Given the description of an element on the screen output the (x, y) to click on. 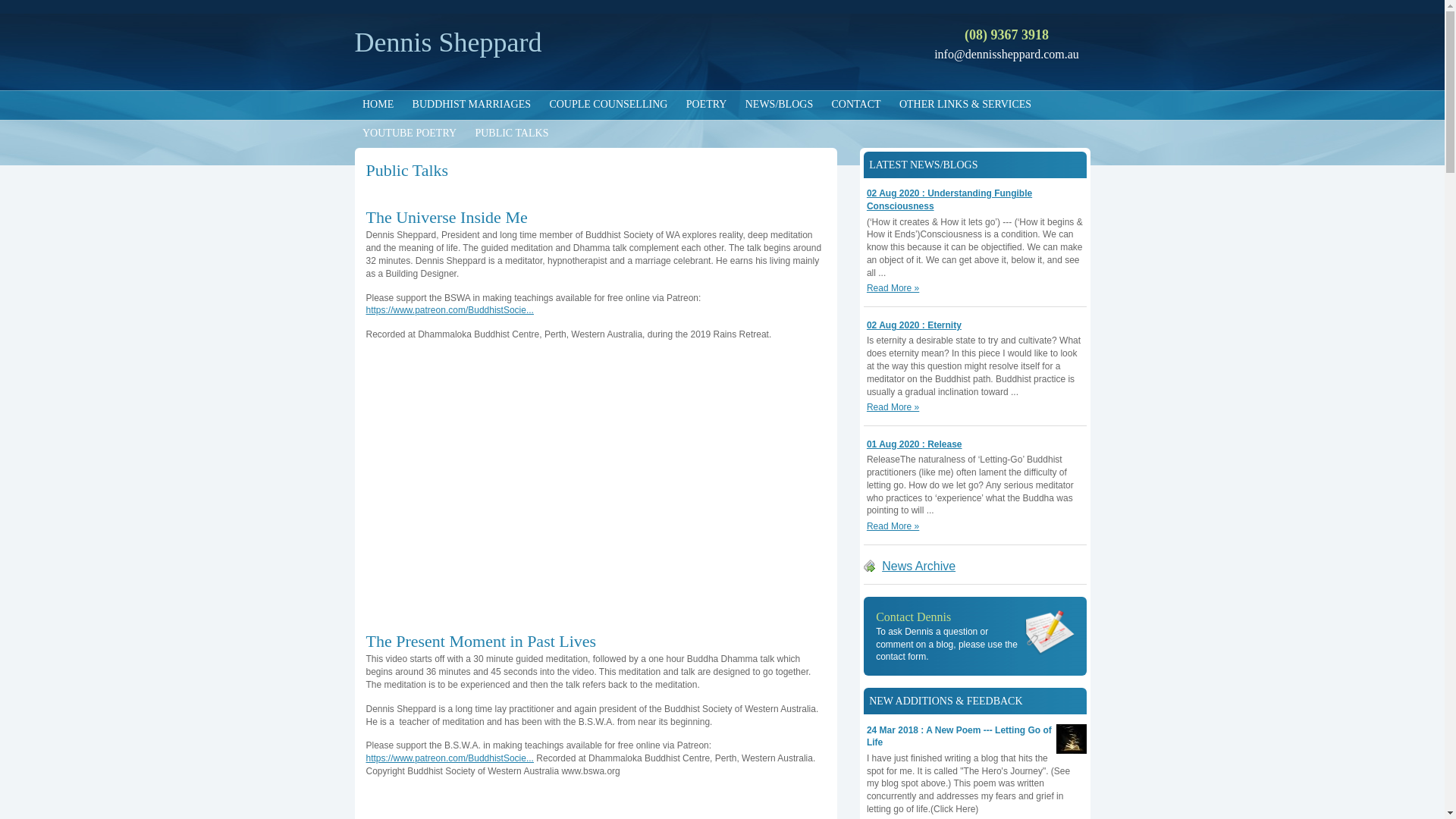
NEWS/BLOGS Element type: text (778, 104)
Contact Dennis Element type: text (912, 615)
https://www.patreon.com/BuddhistSocie... Element type: text (449, 758)
BUDDHIST MARRIAGES Element type: text (471, 104)
01 Aug 2020 : Release Element type: text (914, 444)
PUBLIC TALKS Element type: text (511, 133)
02 Aug 2020 : Understanding Fungible Consciousness Element type: text (949, 199)
info@dennissheppard.com.au Element type: text (1006, 53)
POETRY Element type: text (705, 104)
https://www.patreon.com/BuddhistSocie... Element type: text (449, 309)
OTHER LINKS & SERVICES Element type: text (964, 104)
02 Aug 2020 : Eternity Element type: text (913, 325)
CONTACT Element type: text (855, 104)
HOME Element type: text (377, 104)
COUPLE COUNSELLING Element type: text (608, 104)
Dennis Sheppard Element type: text (448, 42)
News Archive Element type: text (909, 565)
YOUTUBE POETRY Element type: text (409, 133)
